Given the description of an element on the screen output the (x, y) to click on. 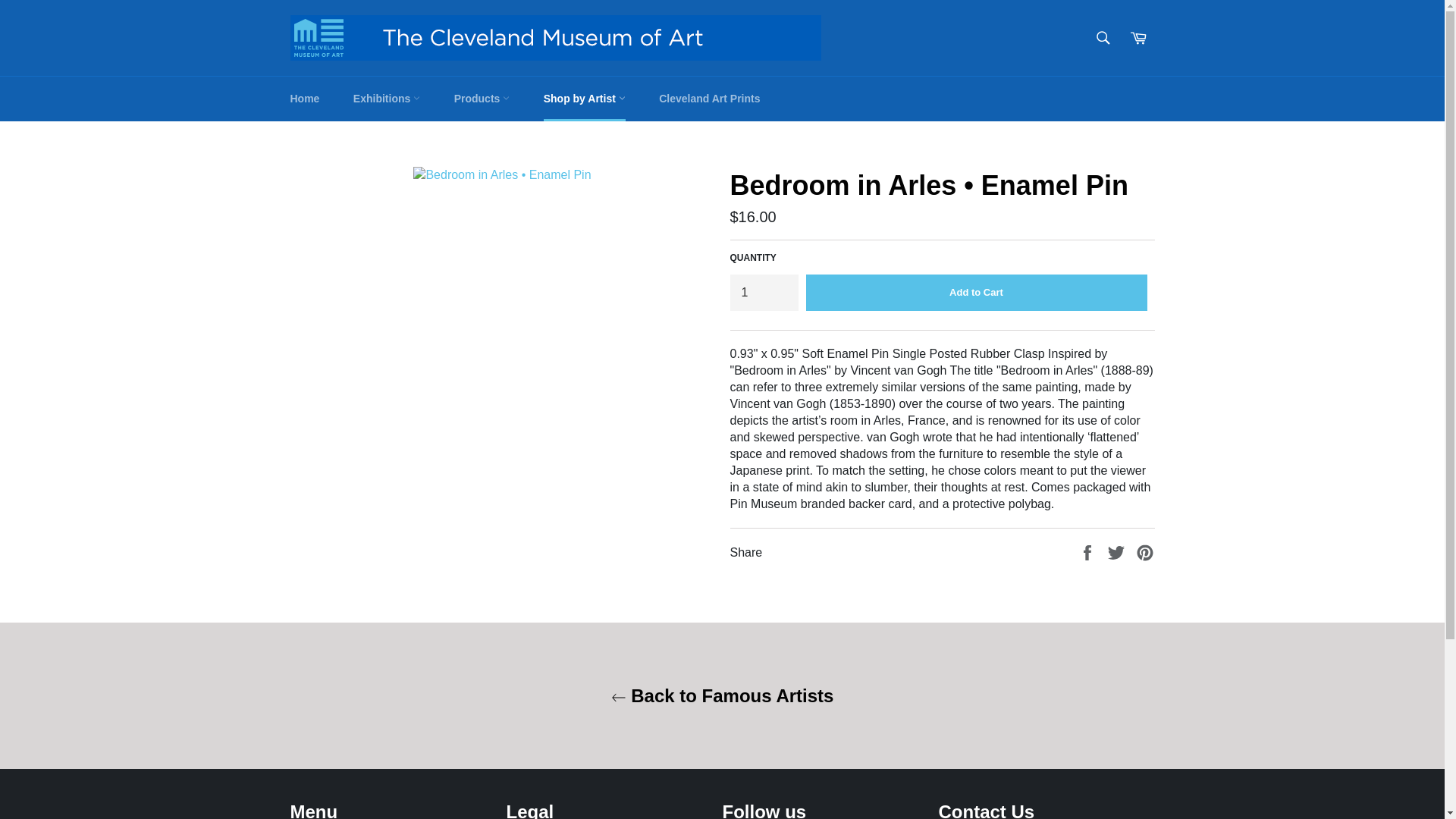
Share on Facebook (1088, 551)
1 (763, 292)
Pin on Pinterest (1144, 551)
Tweet on Twitter (1117, 551)
